Given the description of an element on the screen output the (x, y) to click on. 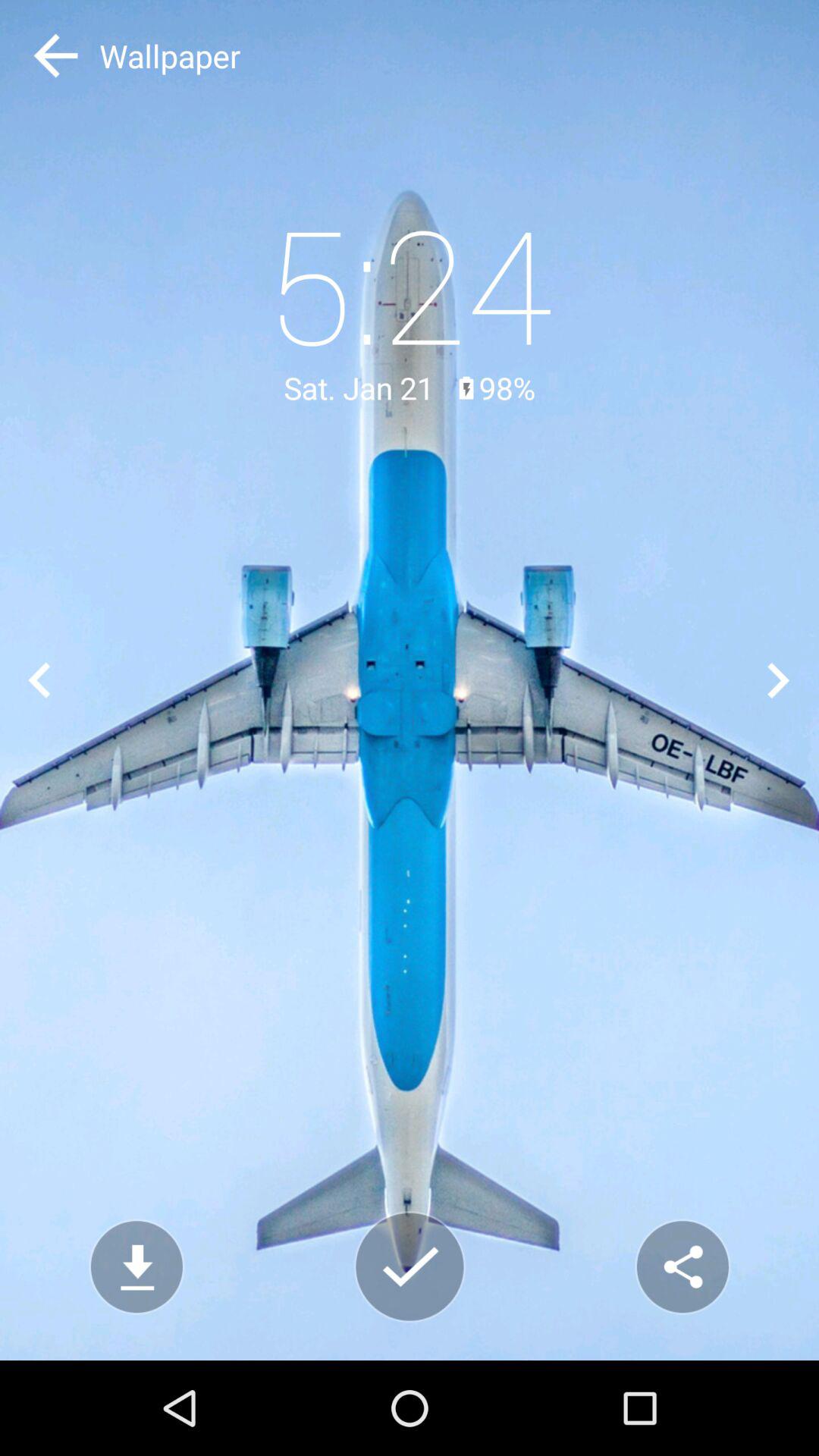
click to select (409, 1266)
